Given the description of an element on the screen output the (x, y) to click on. 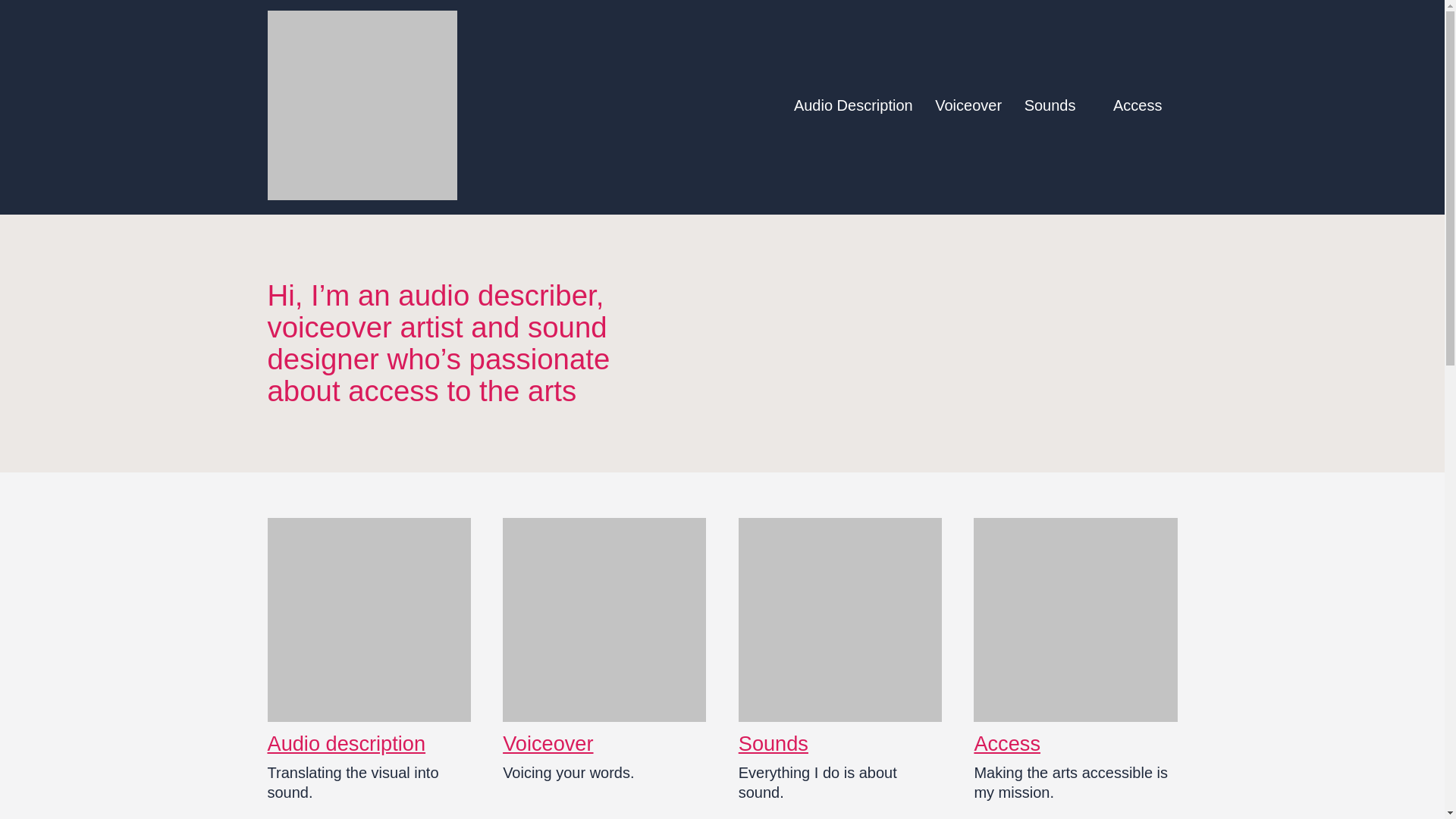
Audio description (345, 743)
Voiceover (547, 743)
Access (1144, 105)
Sounds (773, 743)
Access (1007, 743)
